Given the description of an element on the screen output the (x, y) to click on. 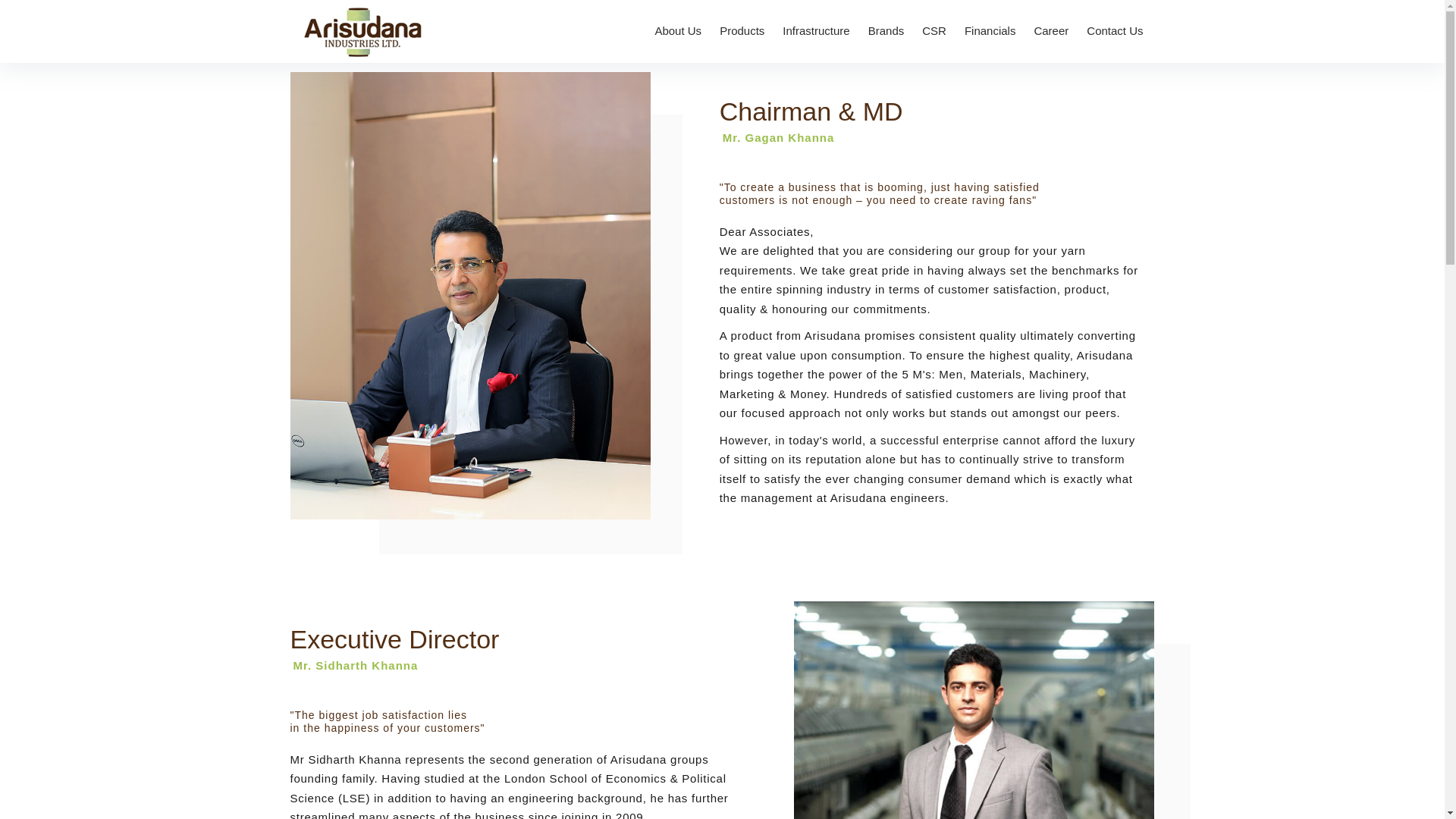
Career (1050, 31)
Infrastructure (815, 31)
Contact Us (1114, 31)
Brands (885, 31)
Products (741, 31)
Financials (989, 31)
About Us (677, 31)
CSR (933, 31)
